Given the description of an element on the screen output the (x, y) to click on. 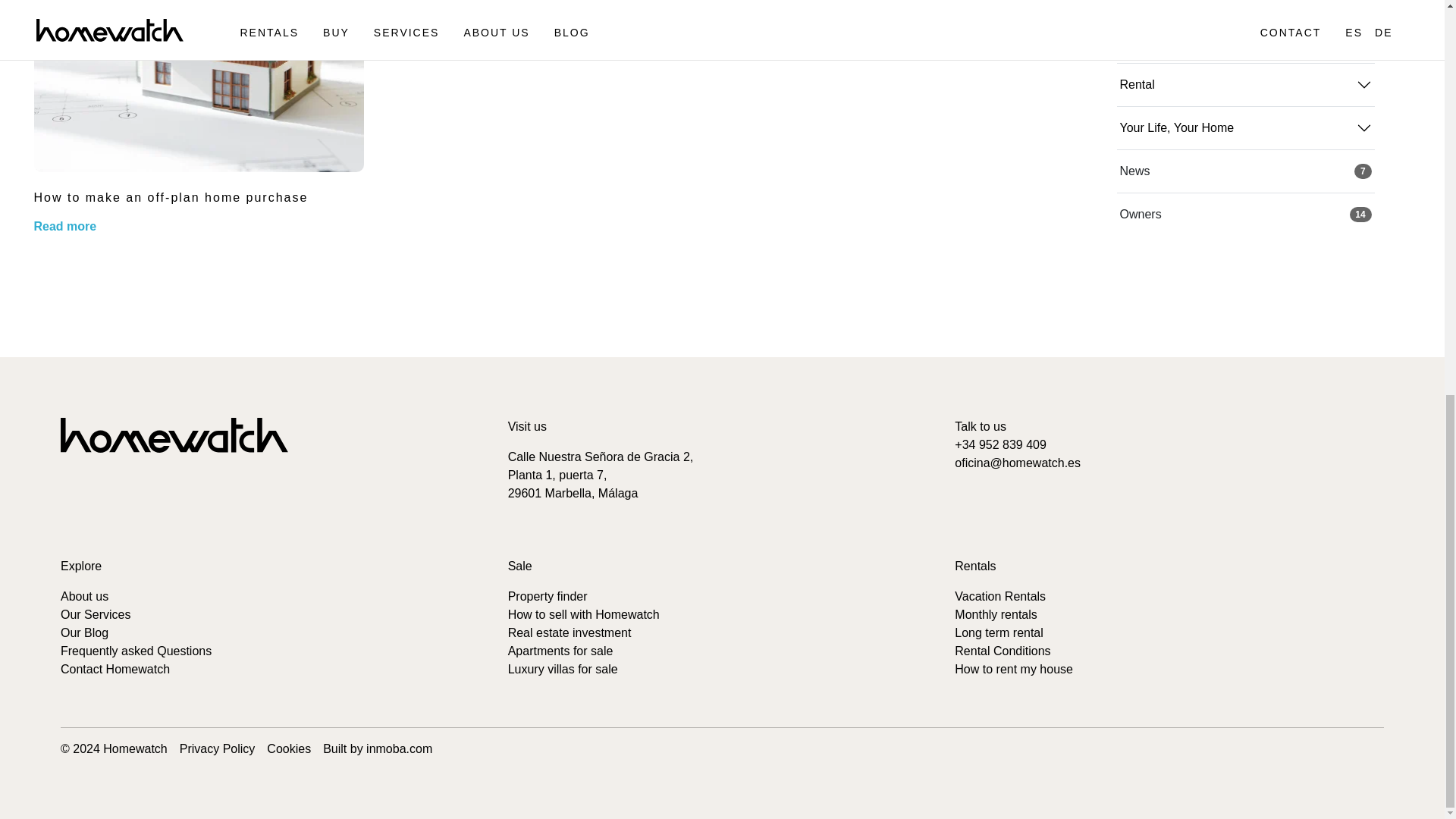
FAQ (136, 650)
Youtube (202, 497)
Twitter (166, 497)
Your Life, Your Home (1245, 8)
Linkedin (132, 497)
About us (84, 595)
Blog (84, 632)
Monthly rentals (995, 614)
How to make an off-plan home purchase (170, 196)
Luxury villas for sale (562, 668)
